Given the description of an element on the screen output the (x, y) to click on. 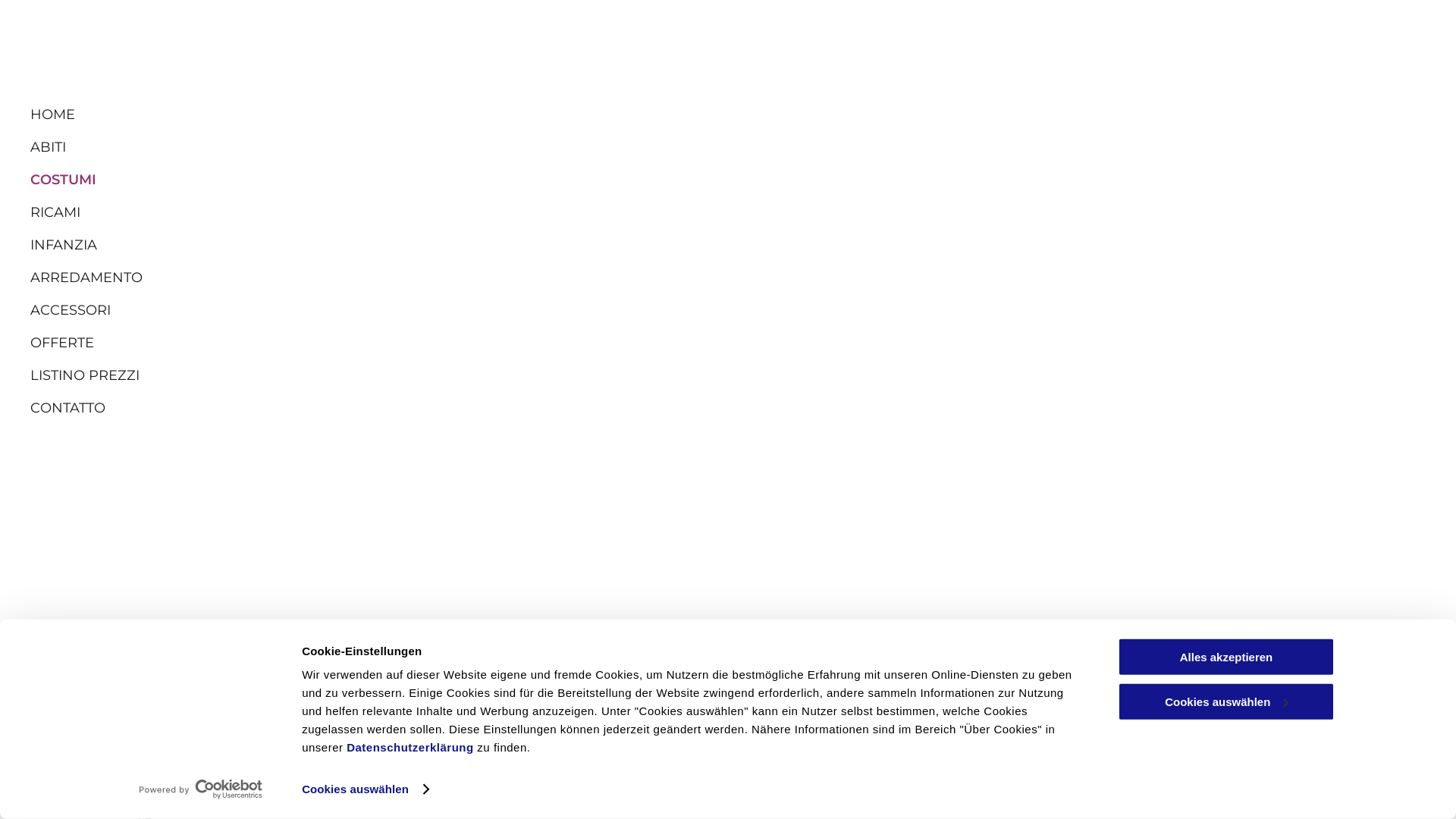
HOME Element type: text (386, 114)
ARREDAMENTO Element type: text (386, 277)
RICAMI Element type: text (386, 212)
LISTINO PREZZI Element type: text (386, 375)
Alles akzeptieren Element type: text (1225, 656)
CONTATTO Element type: text (386, 408)
ABITI Element type: text (386, 147)
OFFERTE Element type: text (386, 342)
ACCESSORI Element type: text (386, 310)
INFANZIA Element type: text (386, 245)
COSTUMI Element type: text (386, 179)
